Given the description of an element on the screen output the (x, y) to click on. 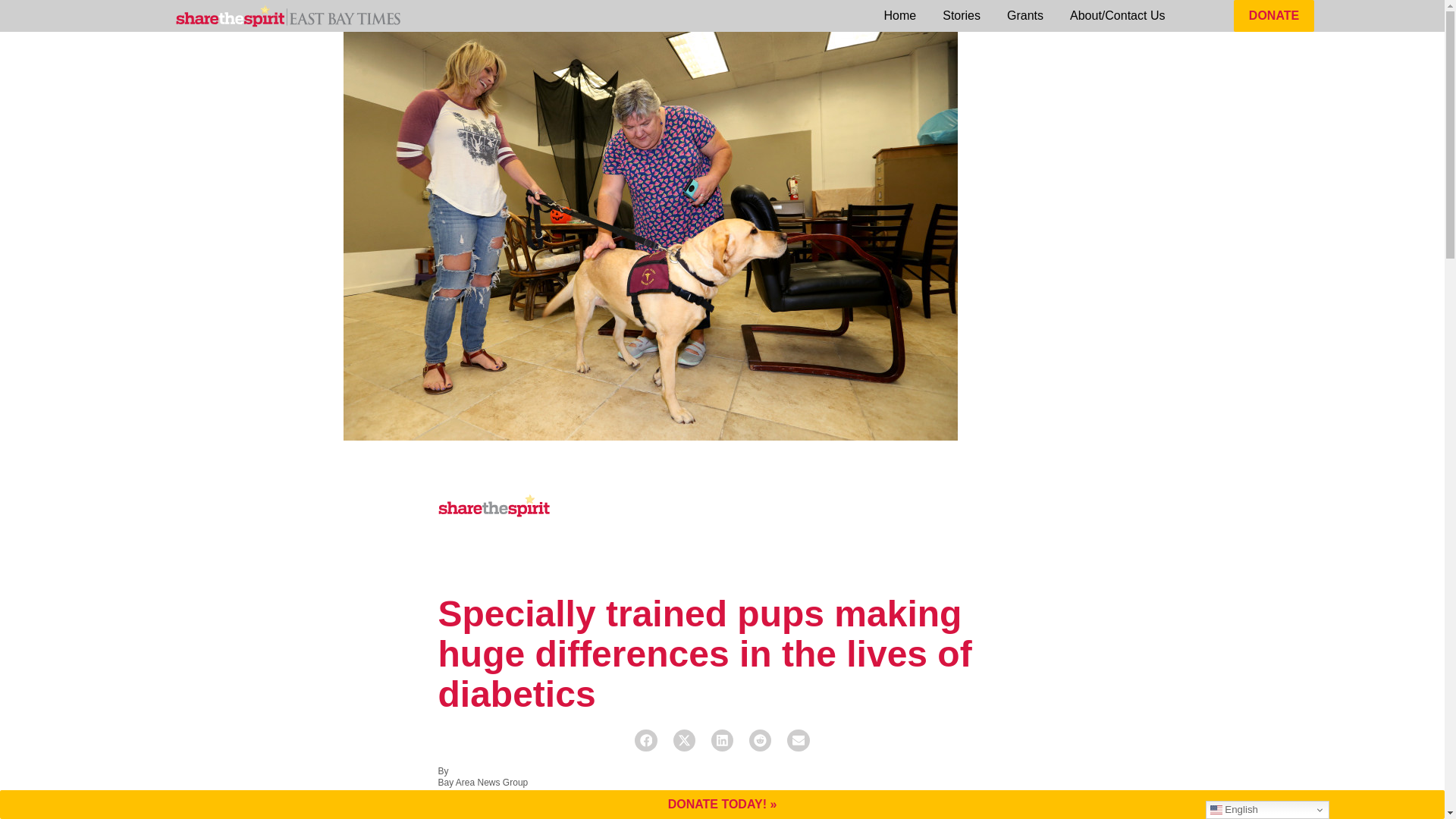
Grants (1024, 15)
Stories (961, 15)
Home (900, 15)
DONATE (1273, 15)
